Given the description of an element on the screen output the (x, y) to click on. 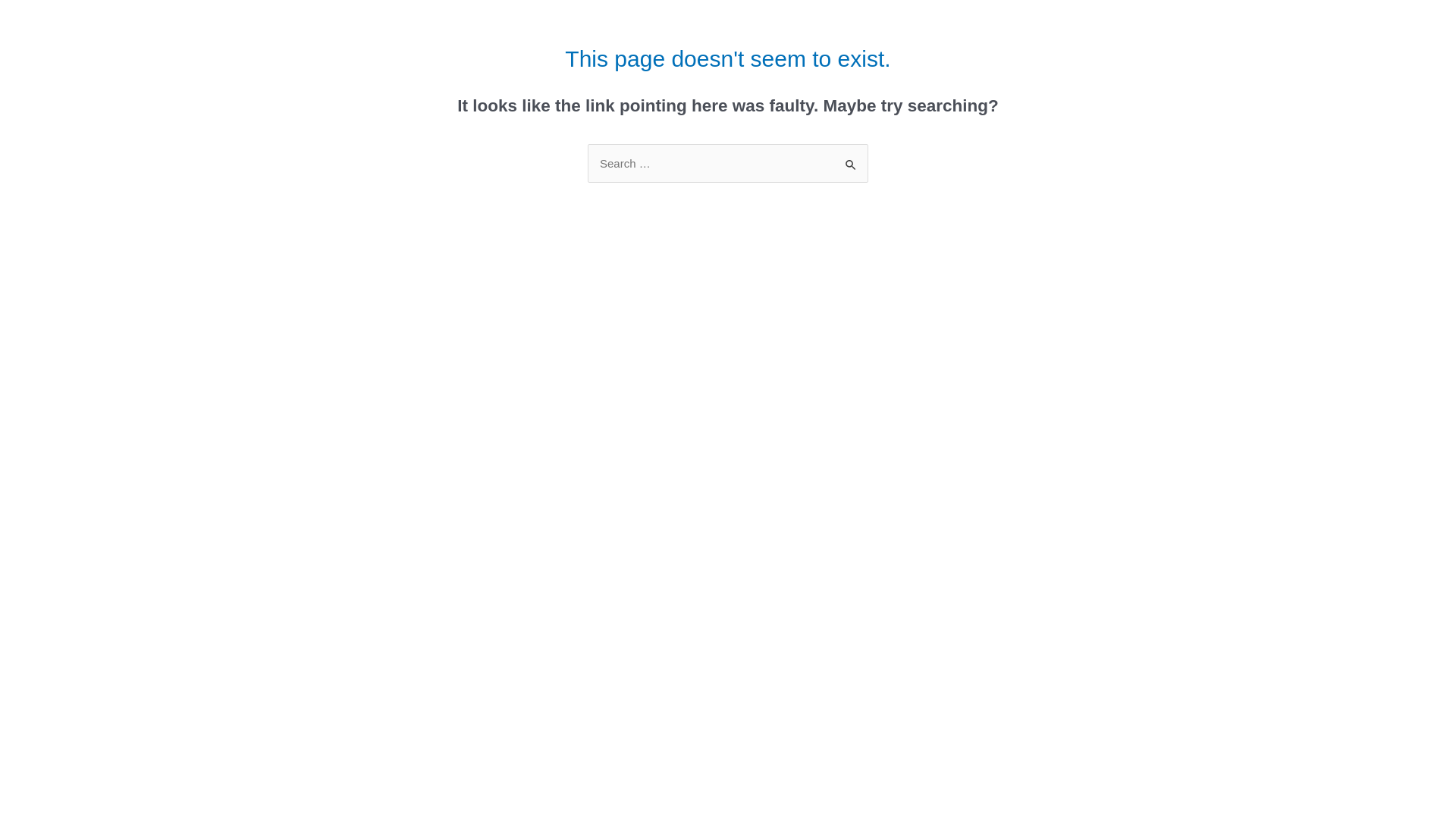
Search Element type: text (851, 159)
